Given the description of an element on the screen output the (x, y) to click on. 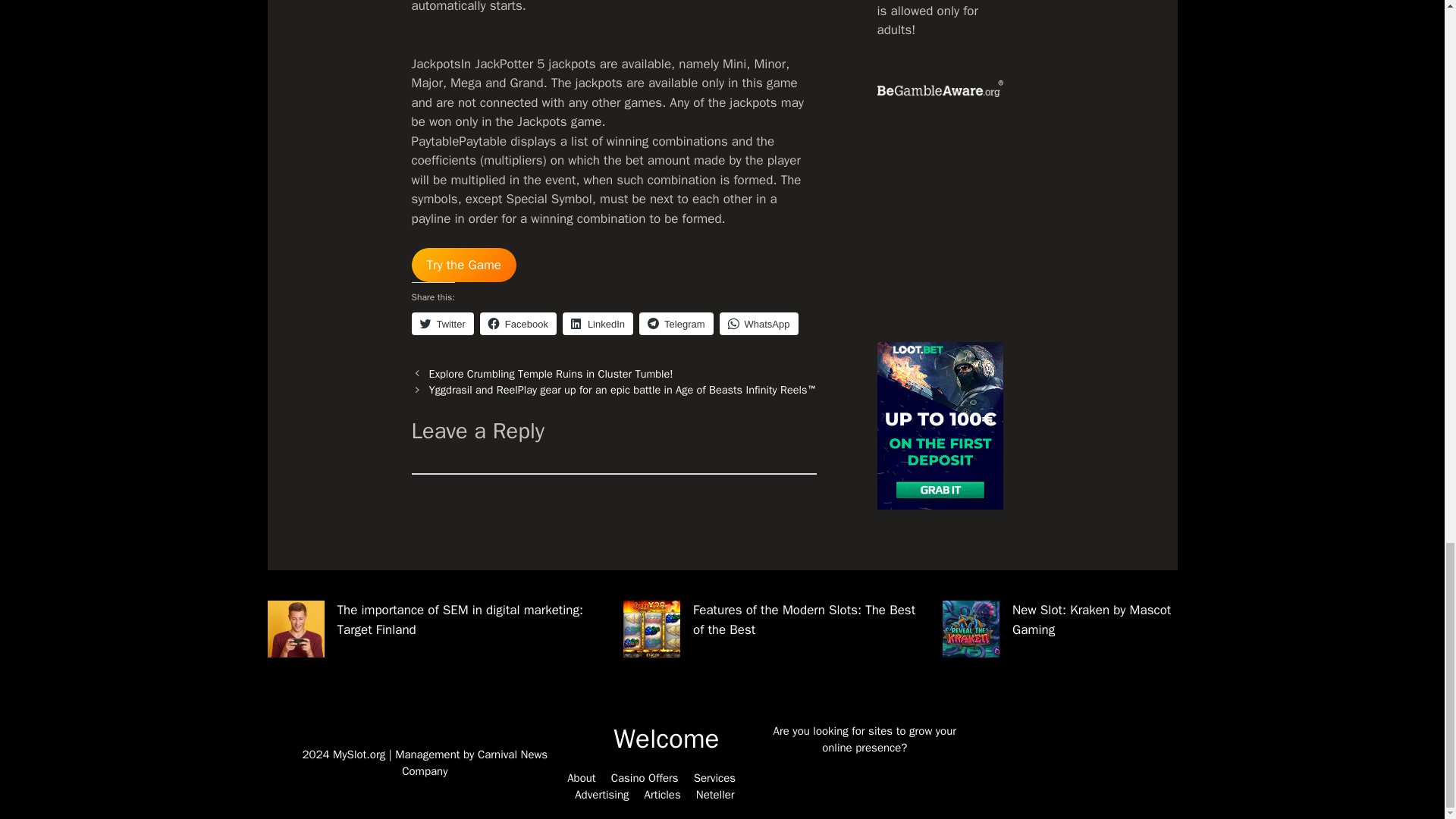
New Slot: Kraken by Mascot Gaming (1090, 619)
Advertising (601, 794)
Twitter (441, 323)
Click to share on Telegram (676, 323)
Services (714, 777)
Click to share on Twitter (441, 323)
Facebook (518, 323)
Click to share on WhatsApp (758, 323)
Articles (663, 794)
Casino Offers (644, 777)
Telegram (676, 323)
WhatsApp (758, 323)
Try the Game (462, 265)
Features of the Modern Slots: The Best of the Best (804, 619)
LinkedIn (597, 323)
